Given the description of an element on the screen output the (x, y) to click on. 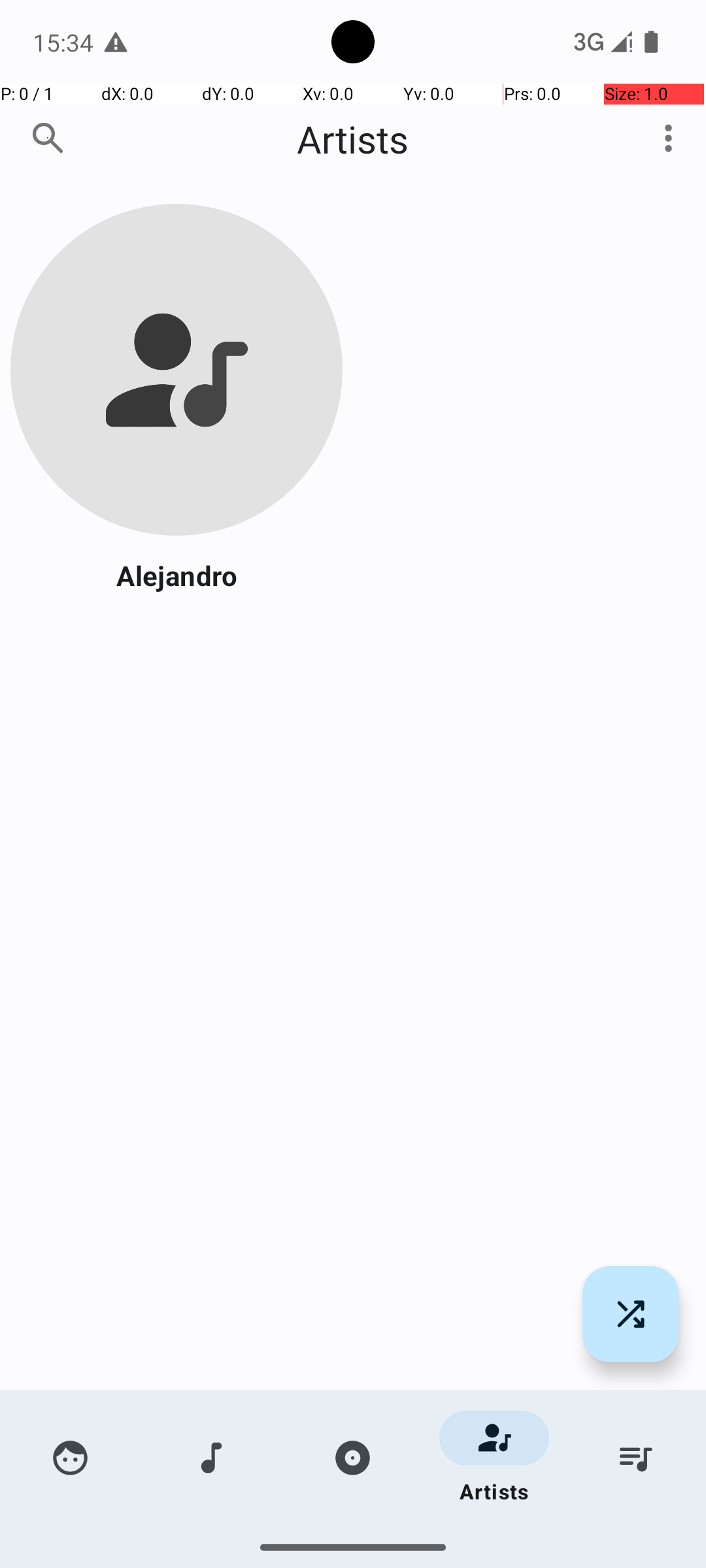
Alejandro Element type: android.widget.TextView (175, 574)
